Given the description of an element on the screen output the (x, y) to click on. 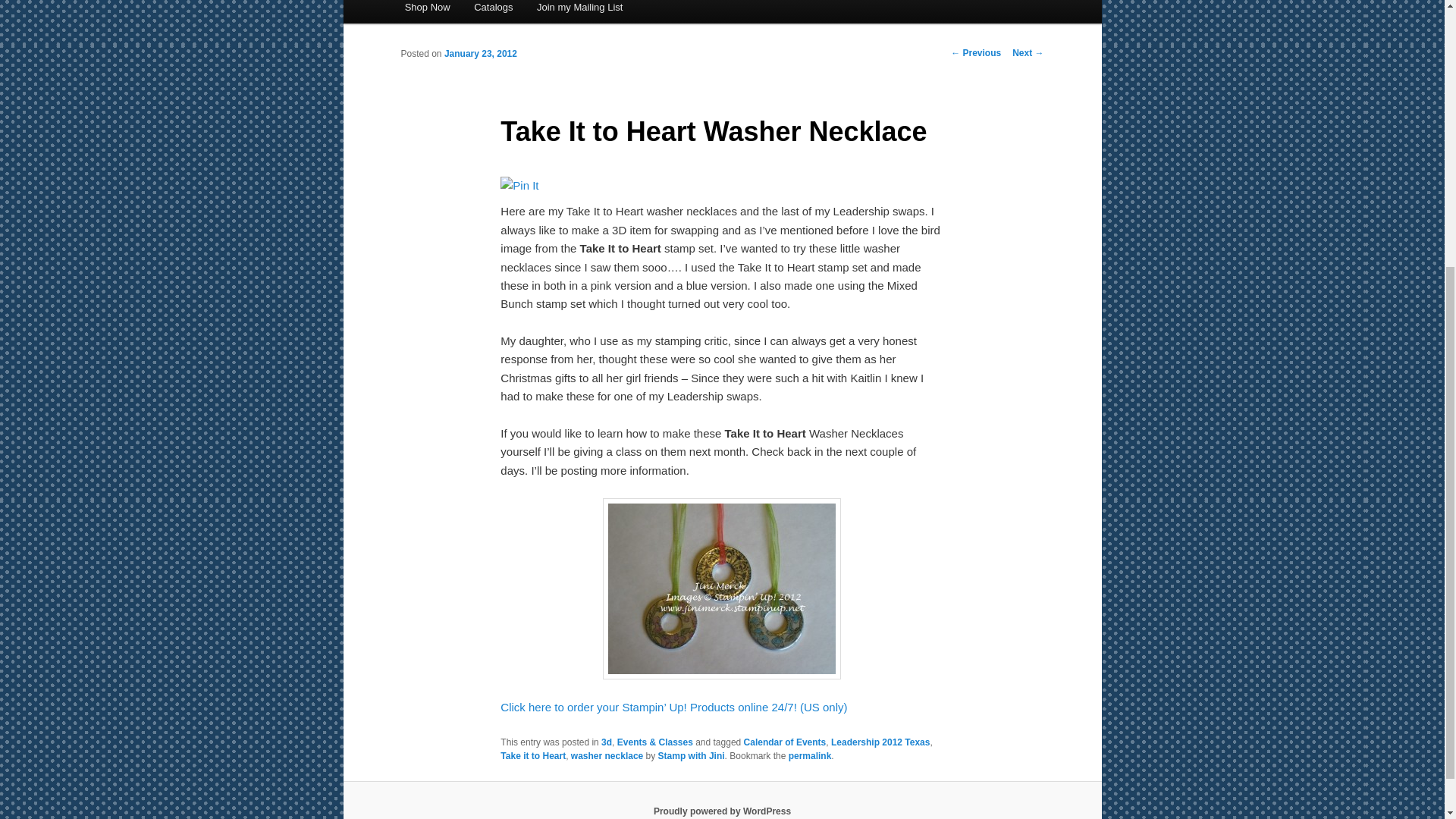
Pin It (519, 185)
Catalogs (492, 11)
Proudly powered by WordPress (721, 810)
Semantic Personal Publishing Platform (721, 810)
Leadership 2012 Texas (880, 742)
Take it to Heart (533, 756)
Join my Mailing List (579, 11)
3d (606, 742)
6:51 pm (480, 53)
Calendar of Events (785, 742)
Stamp with Jini (691, 756)
permalink (810, 756)
Shop Now (427, 11)
Take It to Heart Washer Necklaces Leadership Swap 2012 (721, 588)
washer necklace (606, 756)
